Given the description of an element on the screen output the (x, y) to click on. 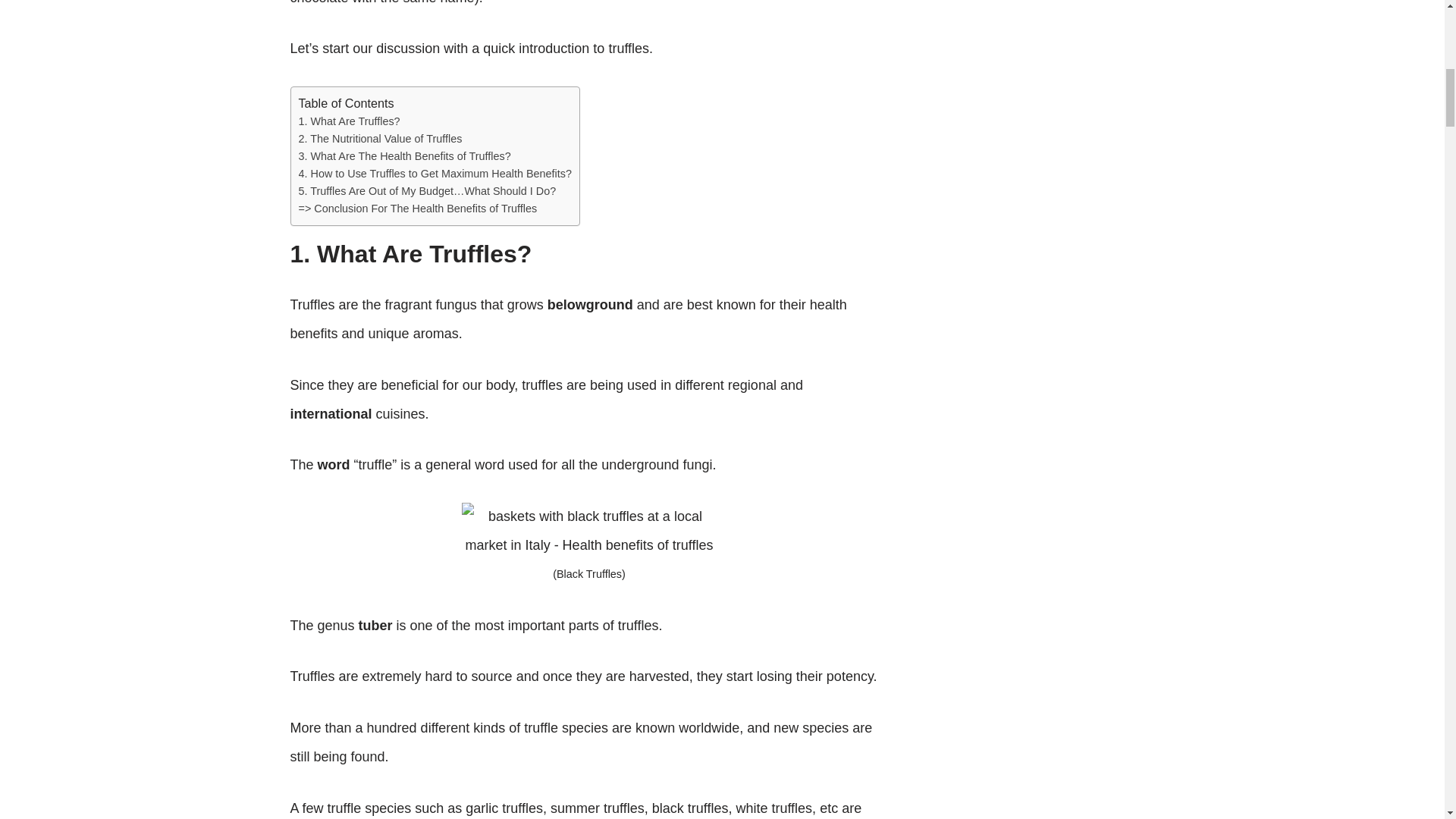
1. What Are Truffles? (349, 121)
2. The Nutritional Value of Truffles (380, 138)
4. How to Use Truffles to Get Maximum Health Benefits? (435, 173)
3. What Are The Health Benefits of Truffles? (404, 155)
1. What Are Truffles? (349, 121)
3. What Are The Health Benefits of Truffles? (404, 155)
2. The Nutritional Value of Truffles (380, 138)
